Given the description of an element on the screen output the (x, y) to click on. 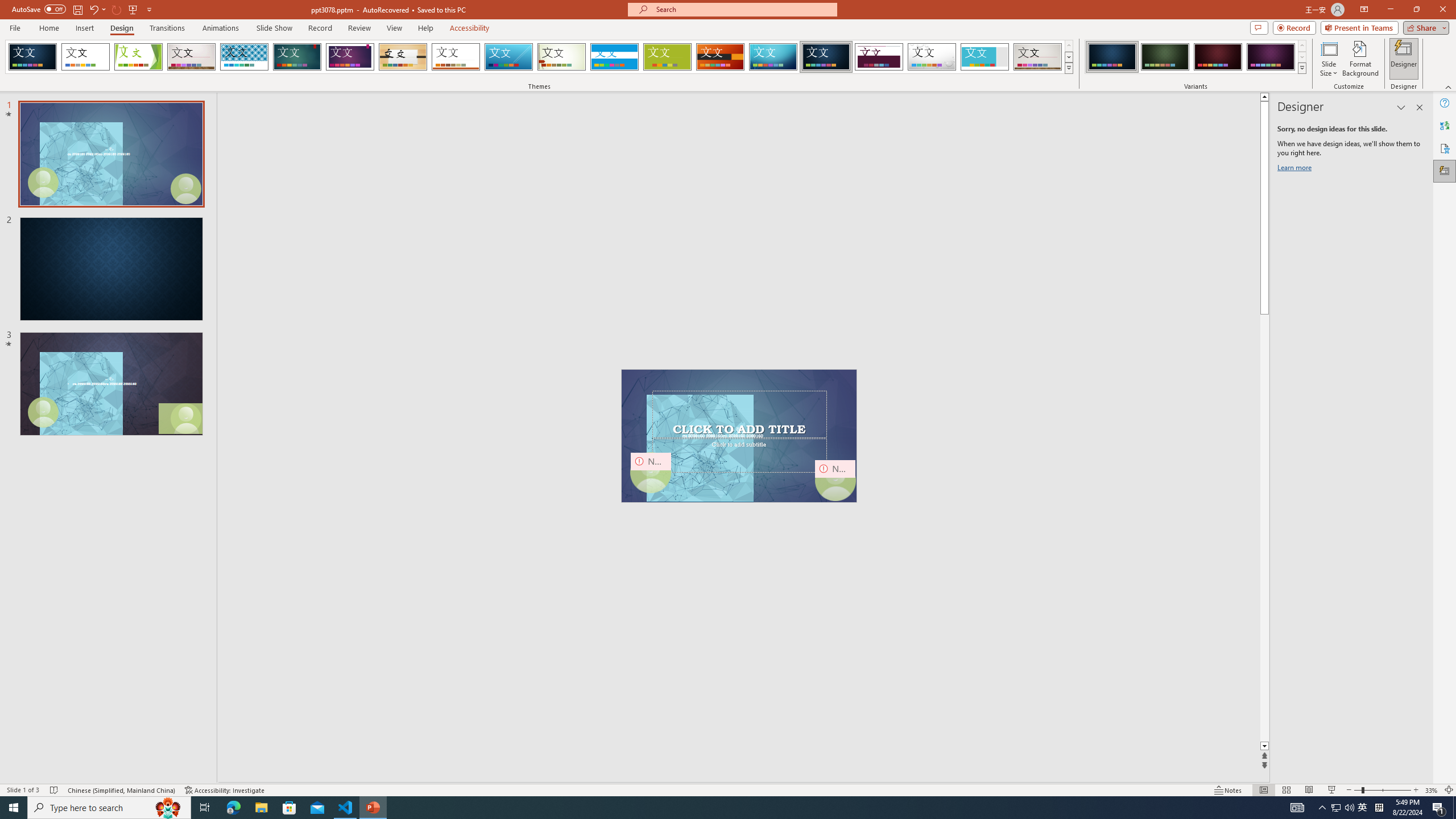
Ion (296, 56)
Camera 16, No camera detected. (834, 479)
Subtitle TextBox (739, 455)
Damask (826, 56)
Dividend (879, 56)
Office Theme (85, 56)
